Given the description of an element on the screen output the (x, y) to click on. 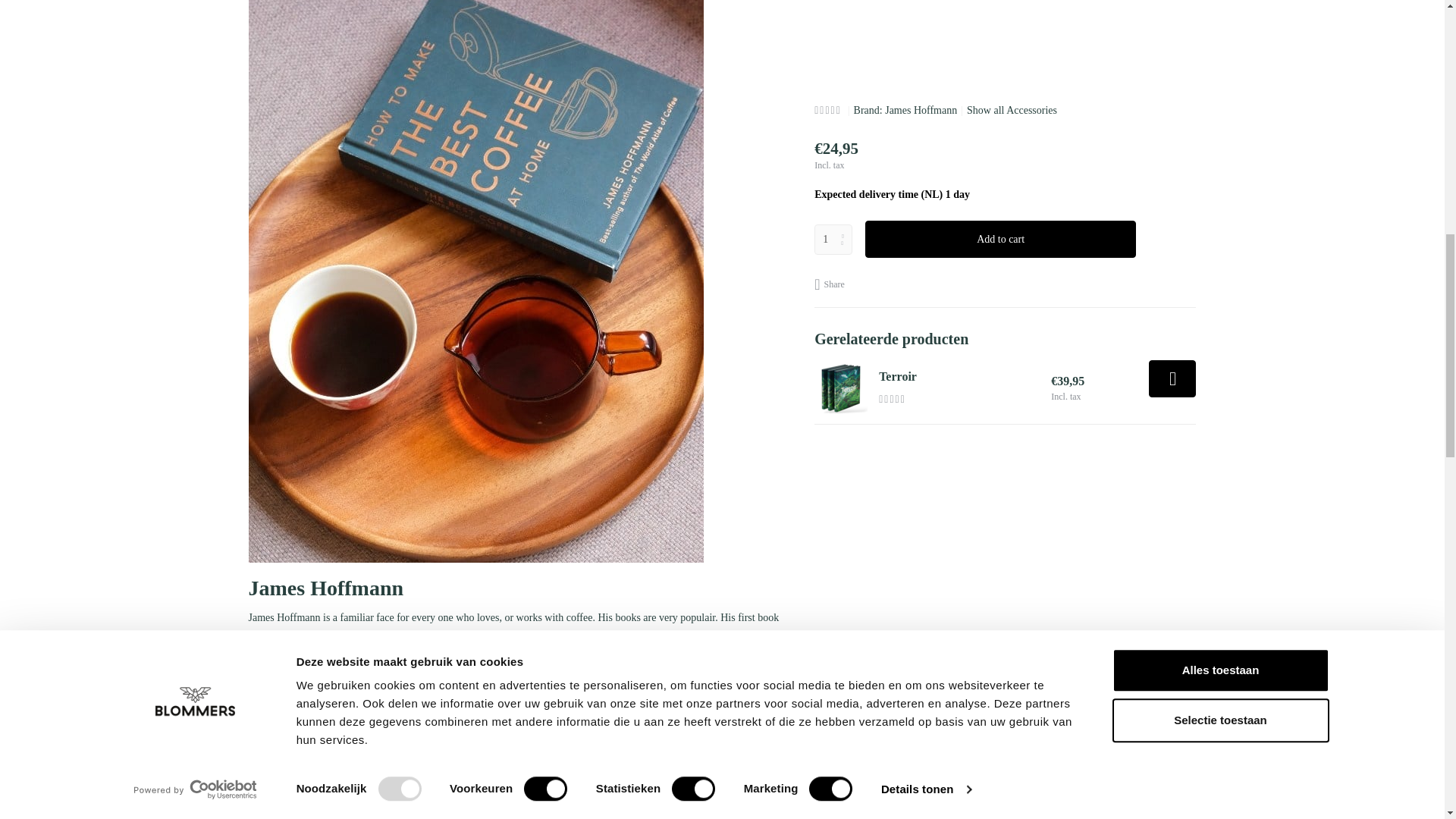
YouTube video player (460, 813)
